Given the description of an element on the screen output the (x, y) to click on. 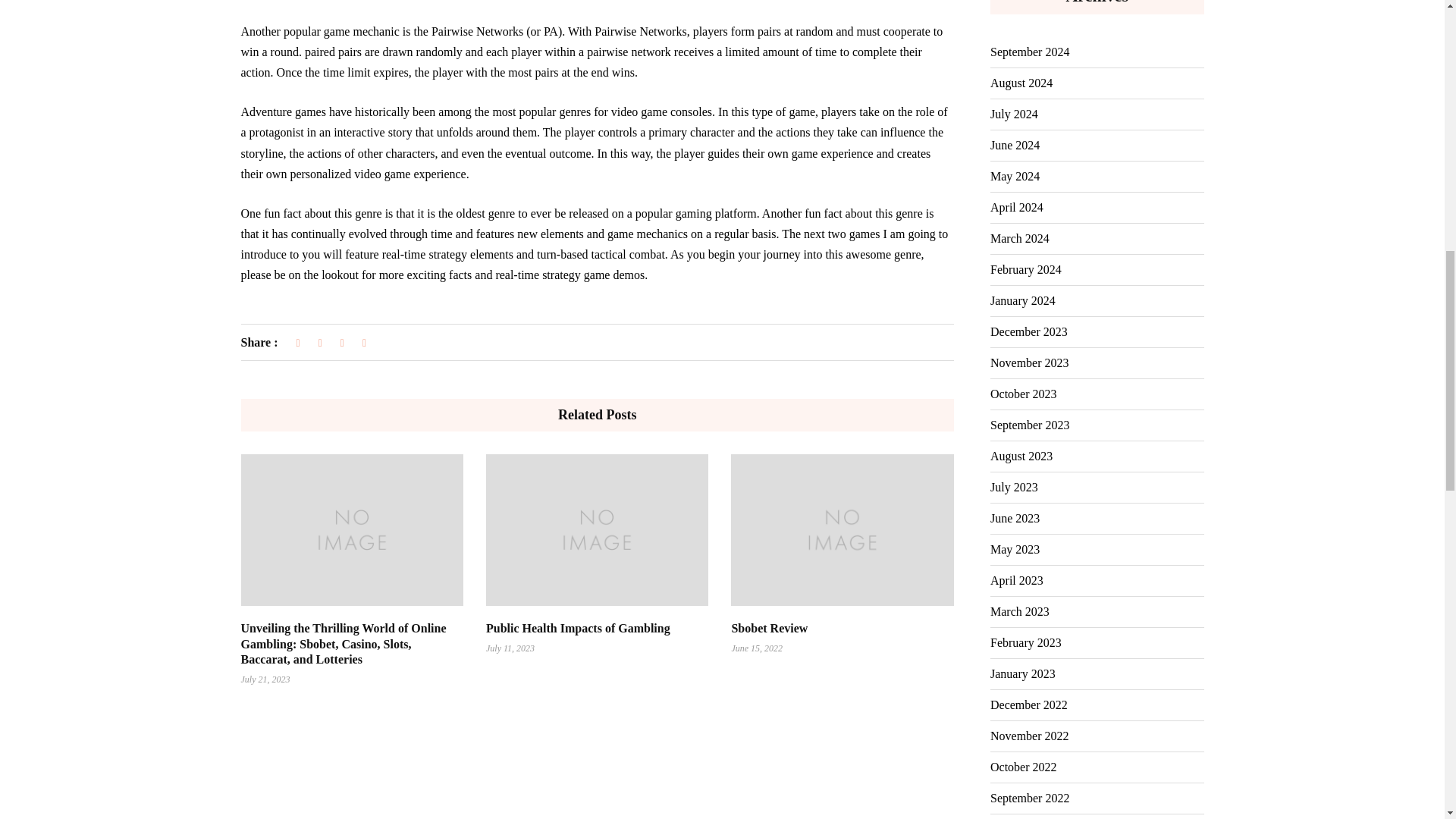
September 2024 (1029, 51)
May 2024 (1014, 176)
September 2023 (1029, 425)
Sbobet Review (769, 627)
December 2023 (1028, 331)
August 2024 (1021, 82)
April 2024 (1016, 207)
January 2024 (1022, 300)
August 2023 (1021, 456)
